Given the description of an element on the screen output the (x, y) to click on. 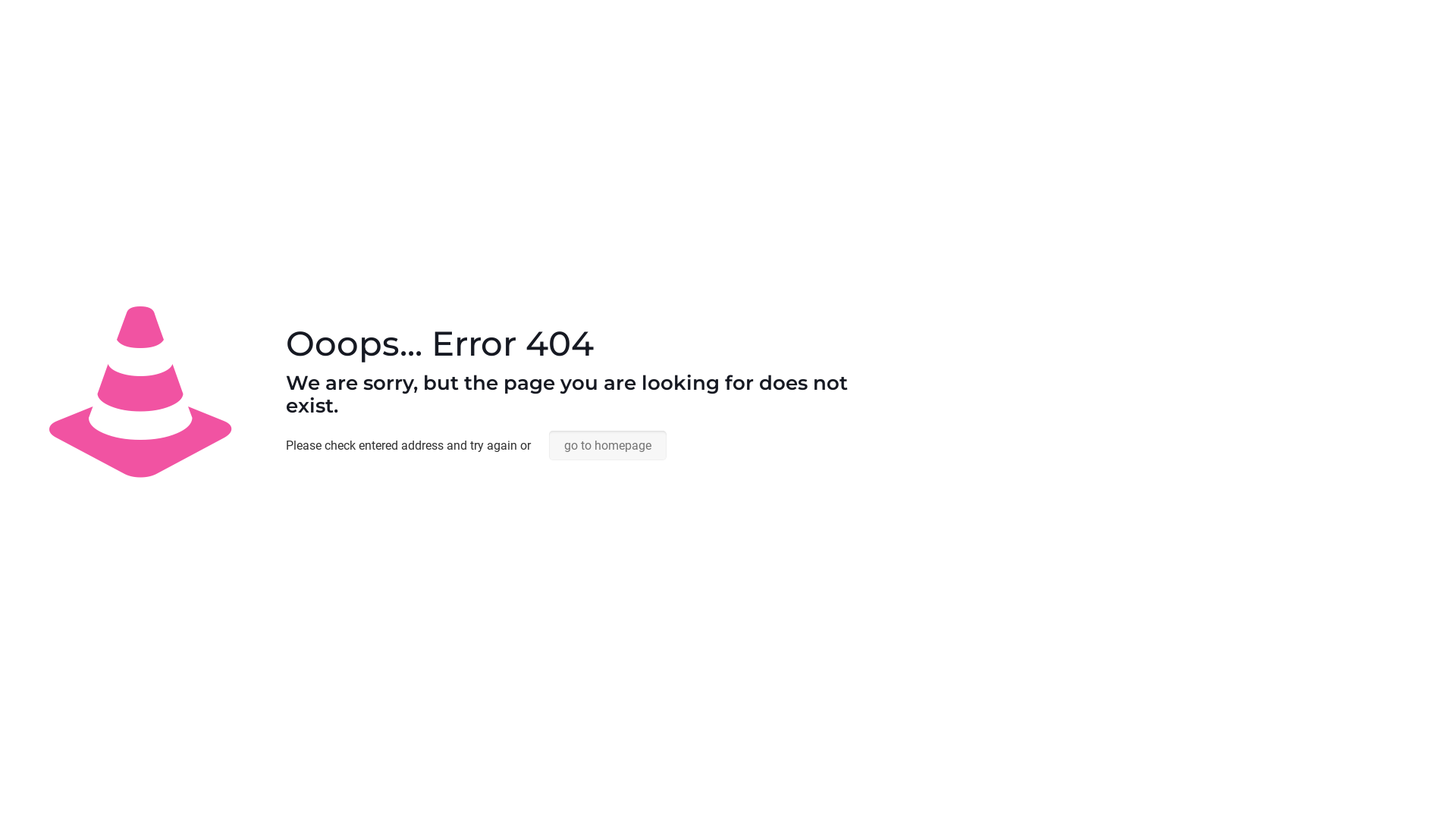
go to homepage Element type: text (607, 445)
